Given the description of an element on the screen output the (x, y) to click on. 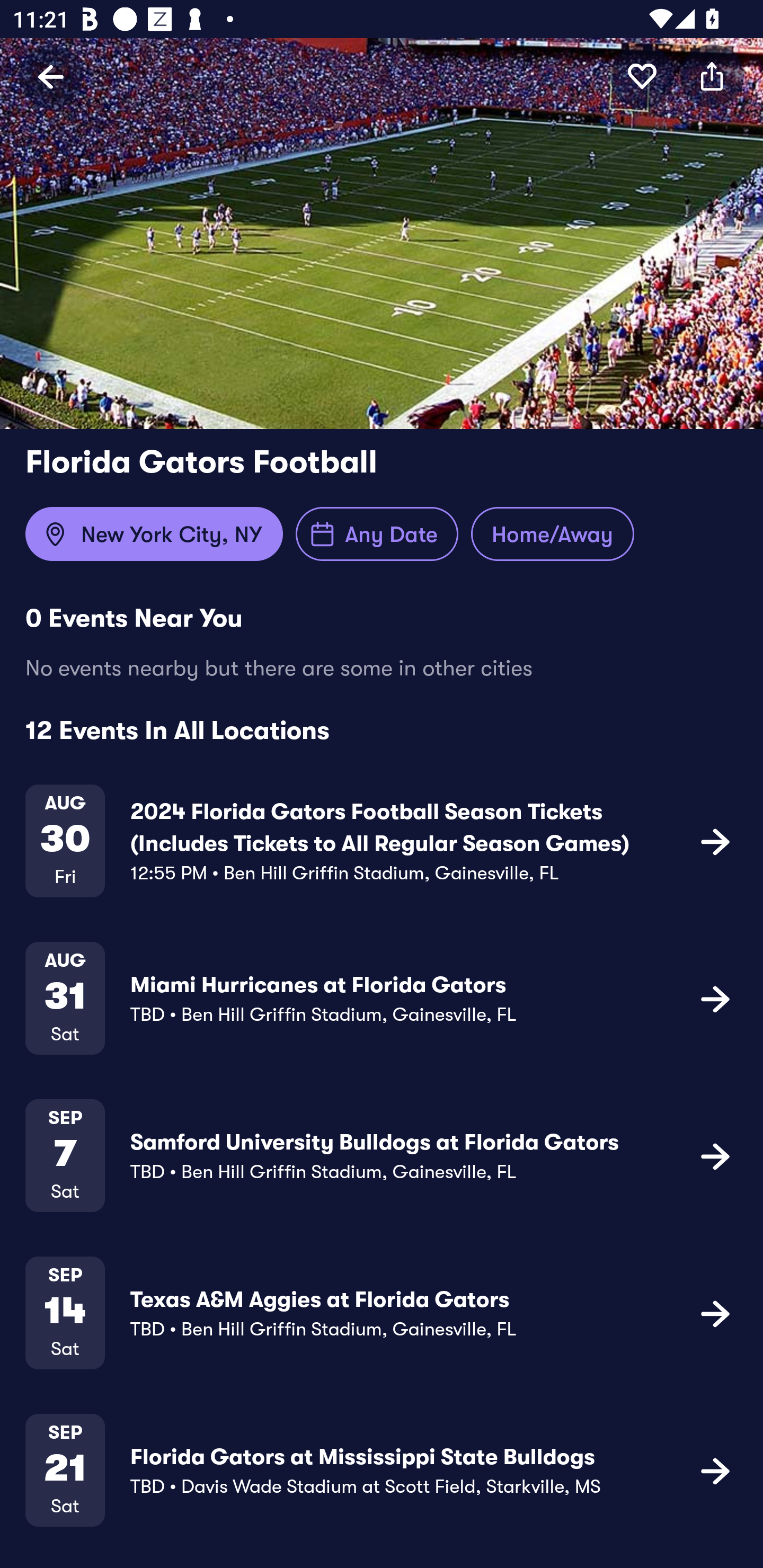
Back (50, 75)
icon button (641, 75)
icon button (711, 75)
New York City, NY (153, 533)
Any Date (377, 533)
Home/Away (552, 533)
icon button (714, 840)
icon button (714, 998)
icon button (714, 1155)
icon button (714, 1312)
icon button (714, 1470)
